Given the description of an element on the screen output the (x, y) to click on. 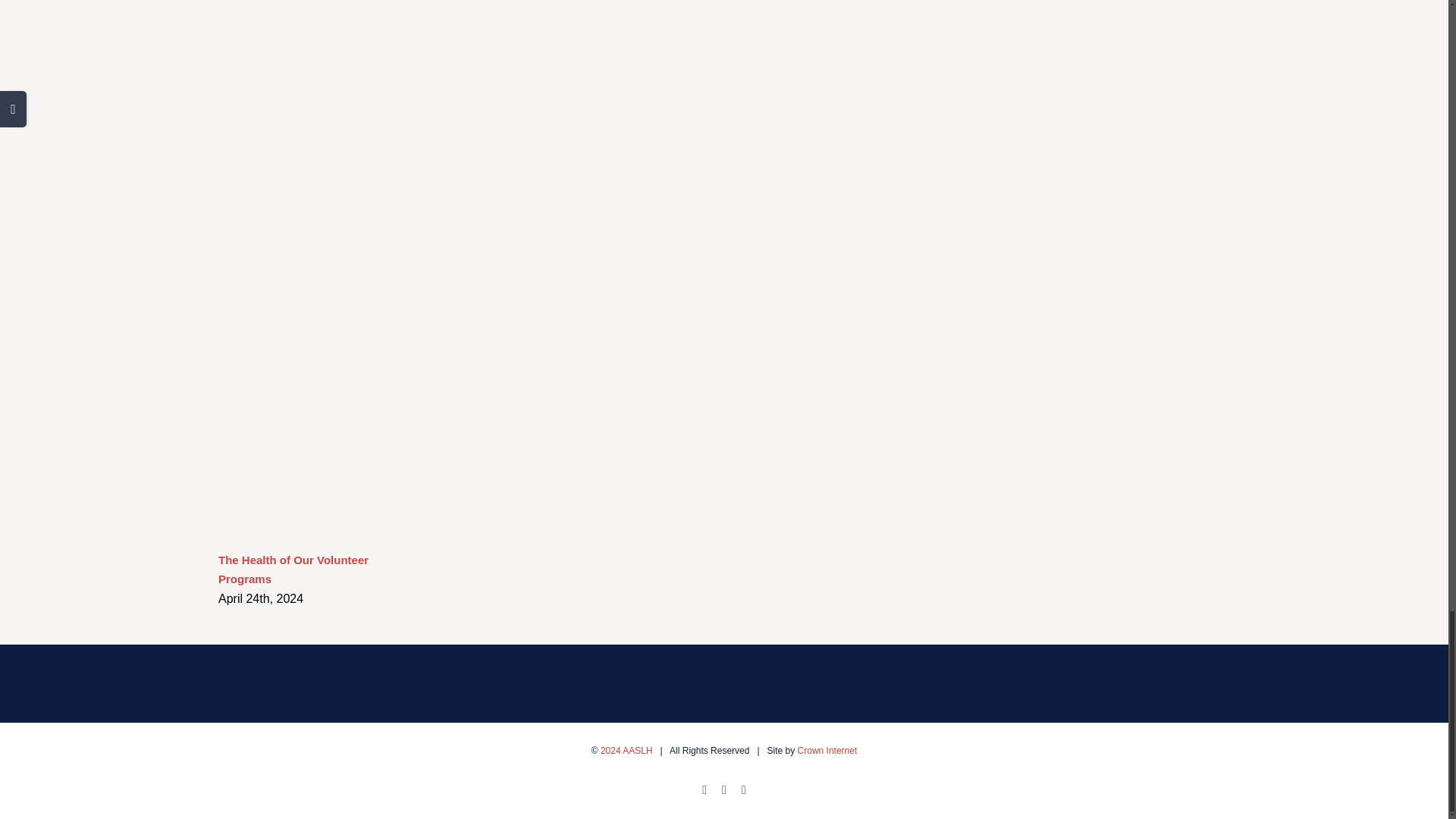
The Health of Our Volunteer Programs (293, 569)
